Given the description of an element on the screen output the (x, y) to click on. 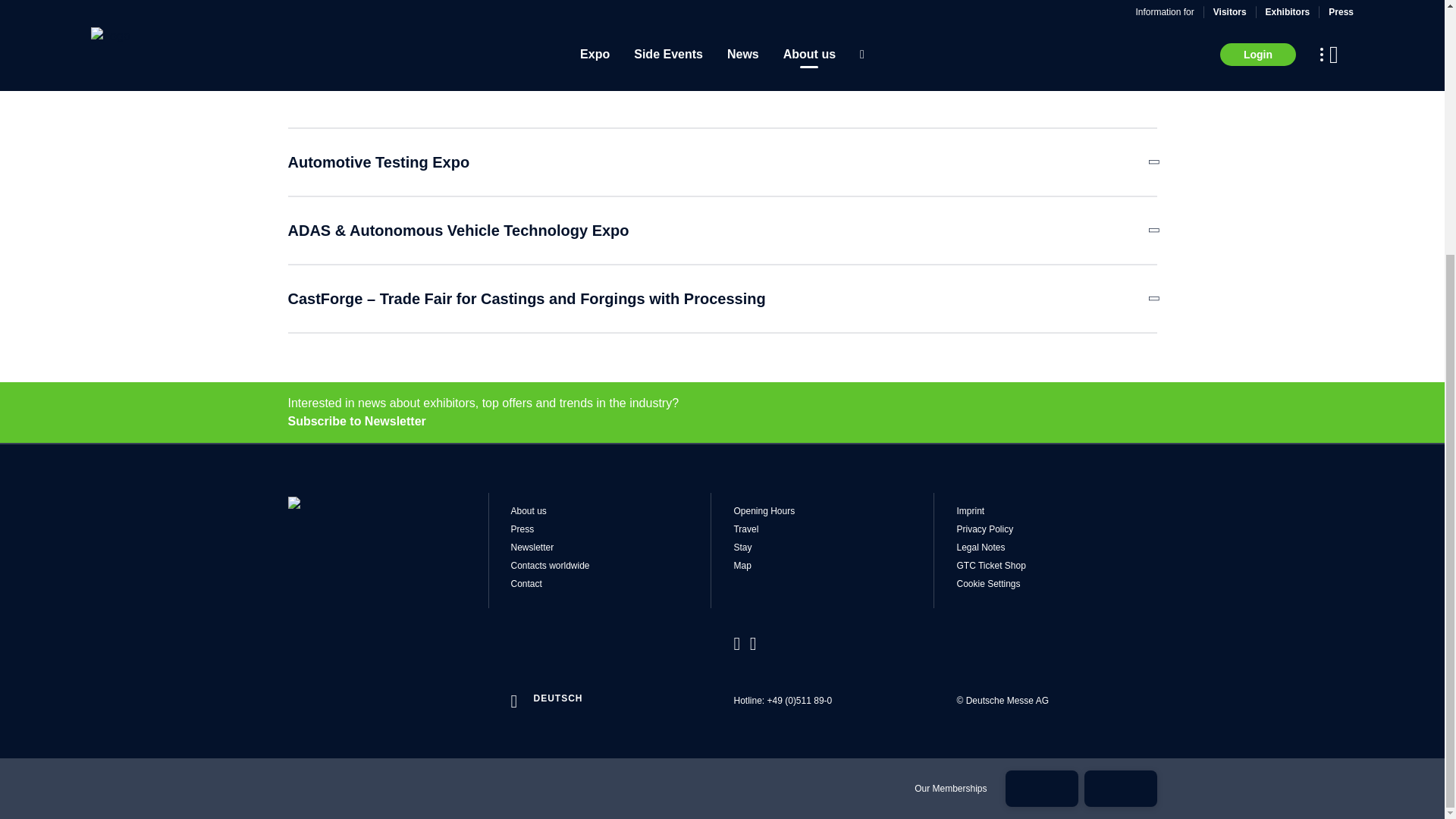
About us (611, 510)
Newsletter (611, 547)
Contacts worldwide (611, 565)
Contact (611, 583)
Cookie Settings (1056, 583)
Legal Notes (1056, 547)
Privacy Policy (1056, 529)
GTC Ticket Shop (1056, 565)
Travel (833, 529)
Press (611, 529)
